Given the description of an element on the screen output the (x, y) to click on. 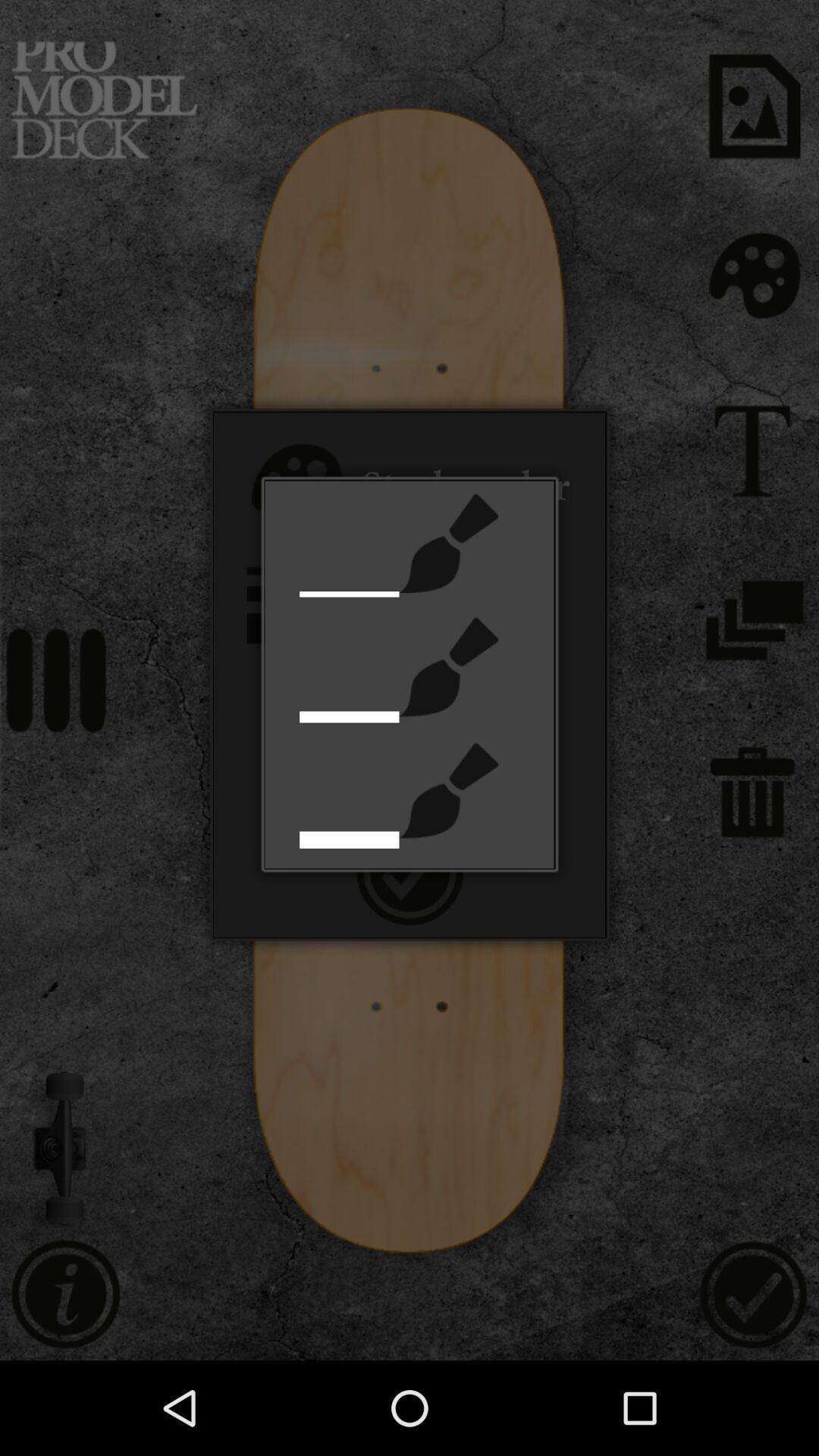
paintbrush options (448, 790)
